Given the description of an element on the screen output the (x, y) to click on. 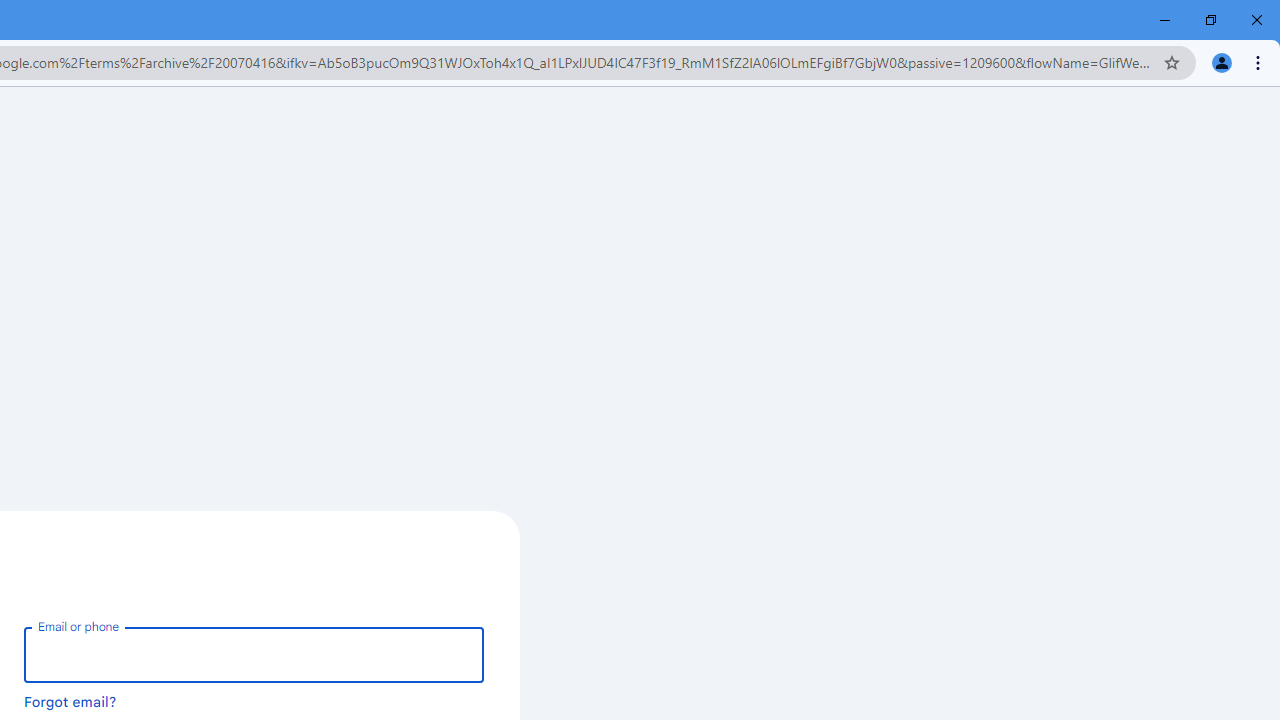
Email or phone (253, 654)
Forgot email? (70, 701)
